Given the description of an element on the screen output the (x, y) to click on. 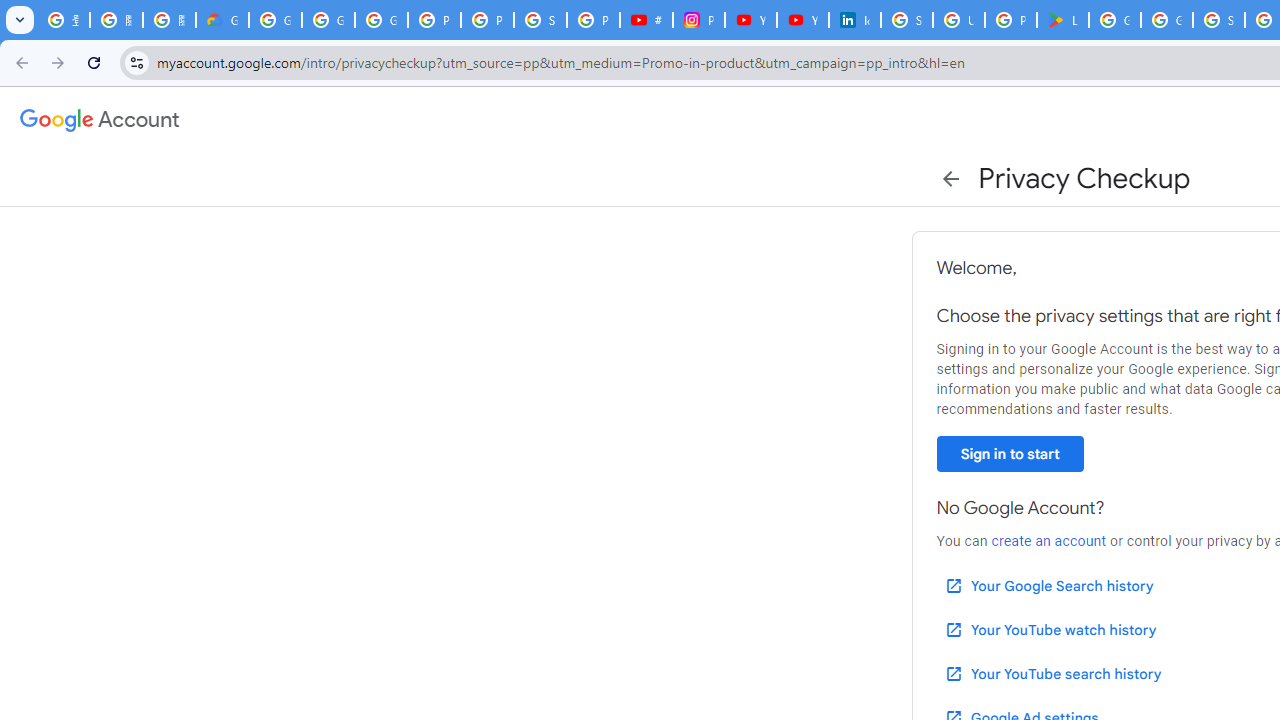
Google Workspace - Specific Terms (1166, 20)
Last Shelter: Survival - Apps on Google Play (1062, 20)
Sign in to start (1009, 454)
